Given the description of an element on the screen output the (x, y) to click on. 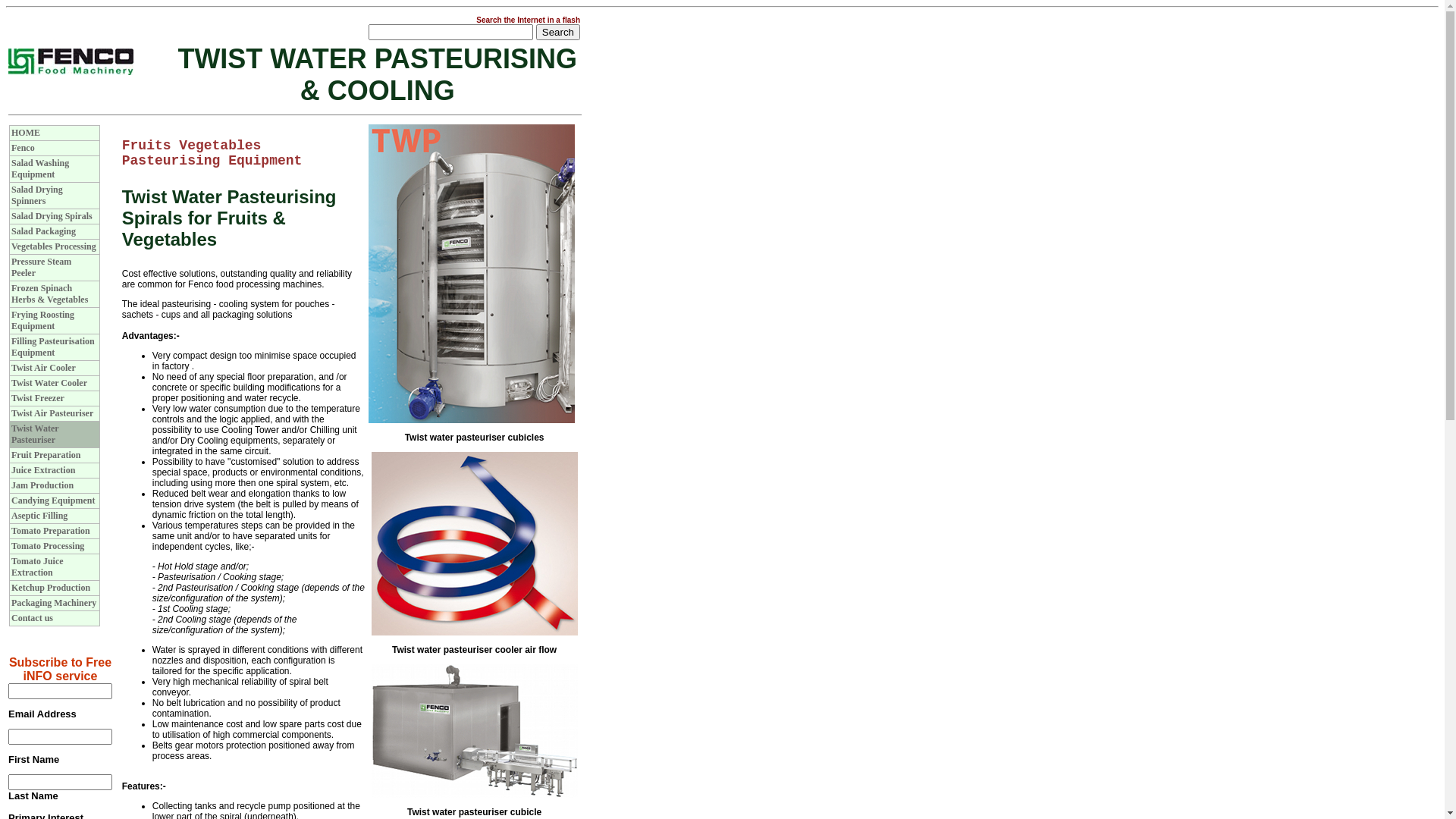
Salad Packaging Element type: text (43, 230)
Juice Extraction Element type: text (43, 469)
Vegetables Processing Element type: text (53, 246)
Fruit Preparation Element type: text (45, 454)
Candying Equipment Element type: text (52, 500)
Salad Drying Spinners Element type: text (36, 195)
Aseptic Filling Element type: text (39, 515)
Tomato Preparation Element type: text (50, 530)
Search Element type: text (558, 32)
Twist Air Pasteuriser Element type: text (52, 412)
Frying Roosting Equipment Element type: text (42, 320)
Tomato Processing Element type: text (47, 545)
Frozen Spinach Herbs & Vegetables Element type: text (49, 293)
Fenco Element type: text (22, 147)
Jam Production Element type: text (42, 485)
Salad Drying Spirals Element type: text (51, 215)
Twist Water Pasteuriser Element type: text (34, 434)
Filling Pasteurisation Equipment Element type: text (52, 346)
HOME Element type: text (25, 132)
Packaging Machinery Element type: text (53, 602)
Twist Water Cooler Element type: text (49, 382)
Salad Washing Equipment Element type: text (40, 168)
Twist Air Cooler Element type: text (43, 367)
Pressure Steam Peeler Element type: text (41, 267)
Tomato Juice Extraction Element type: text (37, 566)
Ketchup Production Element type: text (50, 587)
Contact us Element type: text (32, 617)
Twist Freezer Element type: text (37, 397)
